Given the description of an element on the screen output the (x, y) to click on. 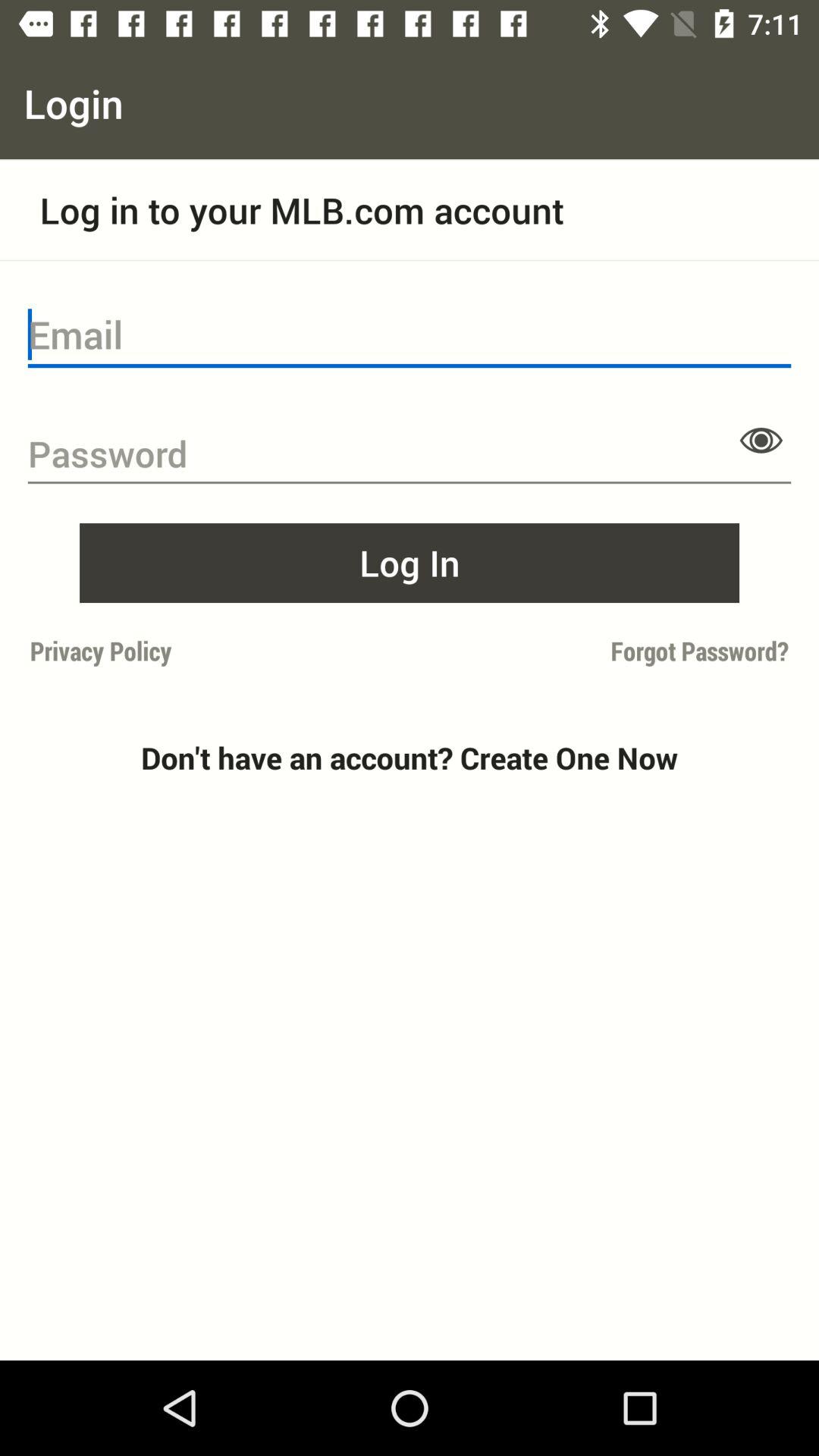
flip until the don t have (409, 757)
